Given the description of an element on the screen output the (x, y) to click on. 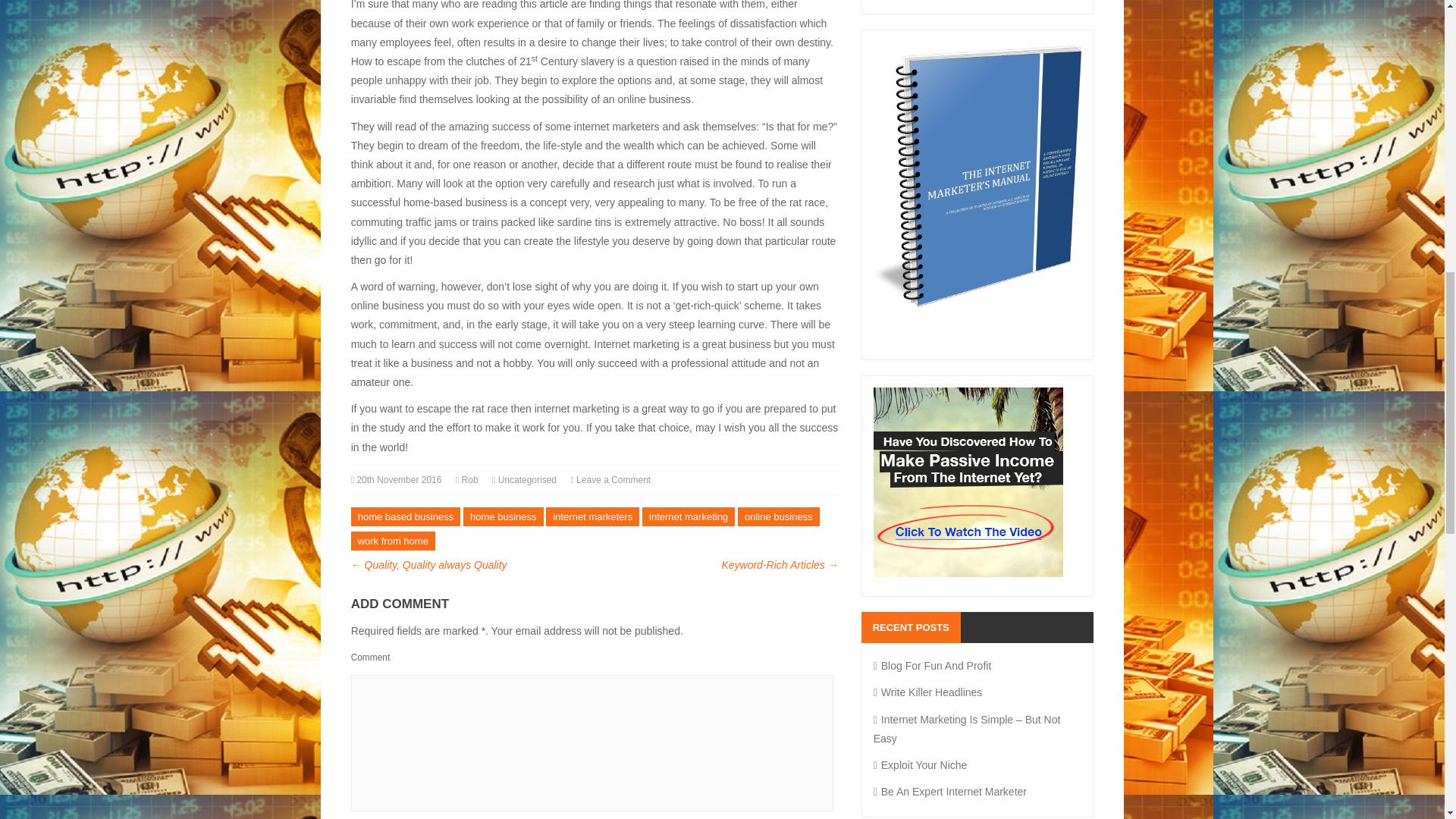
work from home (392, 540)
home based business (405, 516)
internet marketing (688, 516)
internet marketers (592, 516)
Rob (470, 480)
home business (503, 516)
Leave a Comment (613, 480)
Uncategorised (526, 480)
